Given the description of an element on the screen output the (x, y) to click on. 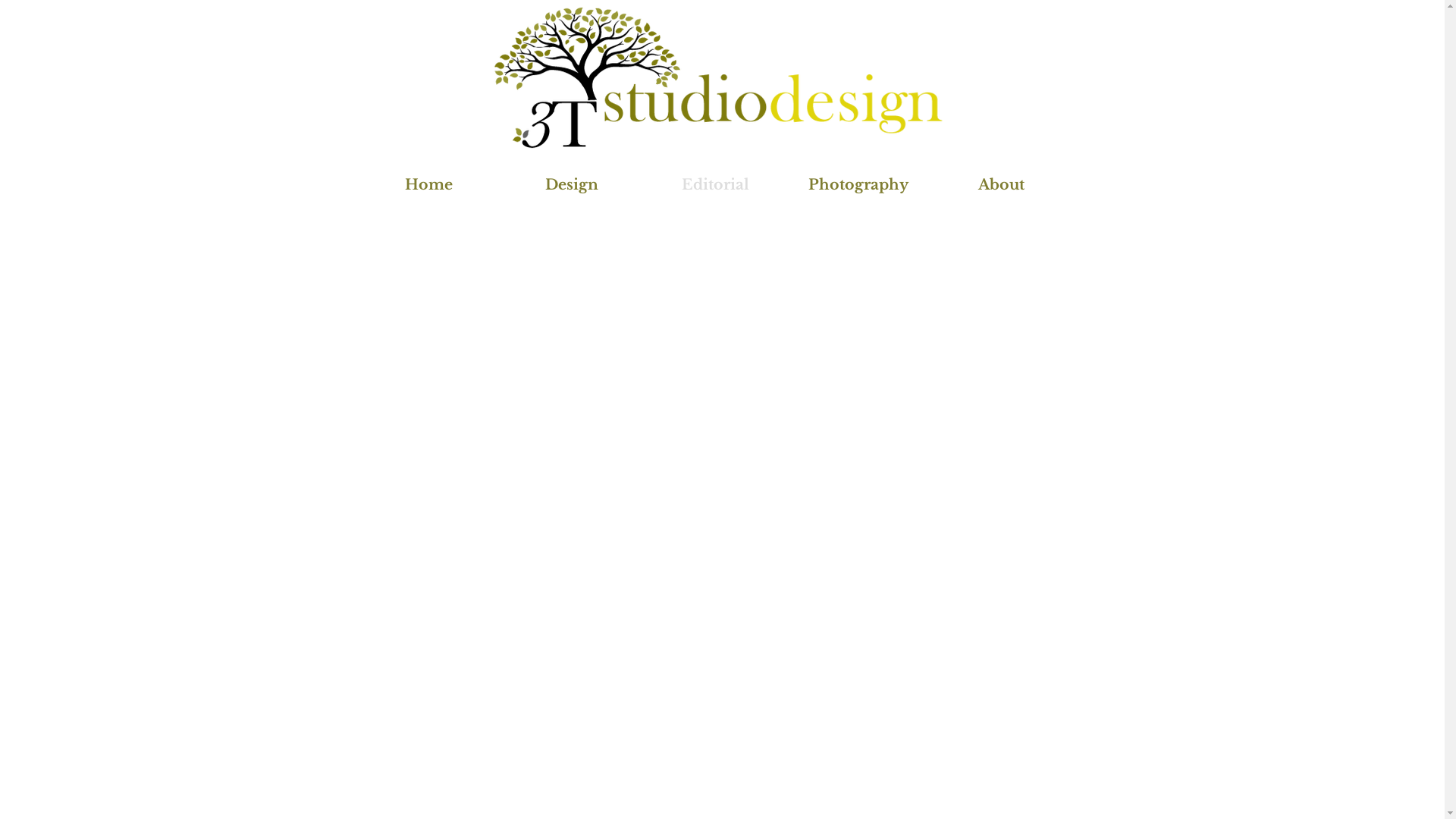
Design Element type: text (571, 184)
Photography Element type: text (858, 184)
Home Element type: text (427, 184)
Editorial Element type: text (714, 184)
About Element type: text (1000, 184)
